Given the description of an element on the screen output the (x, y) to click on. 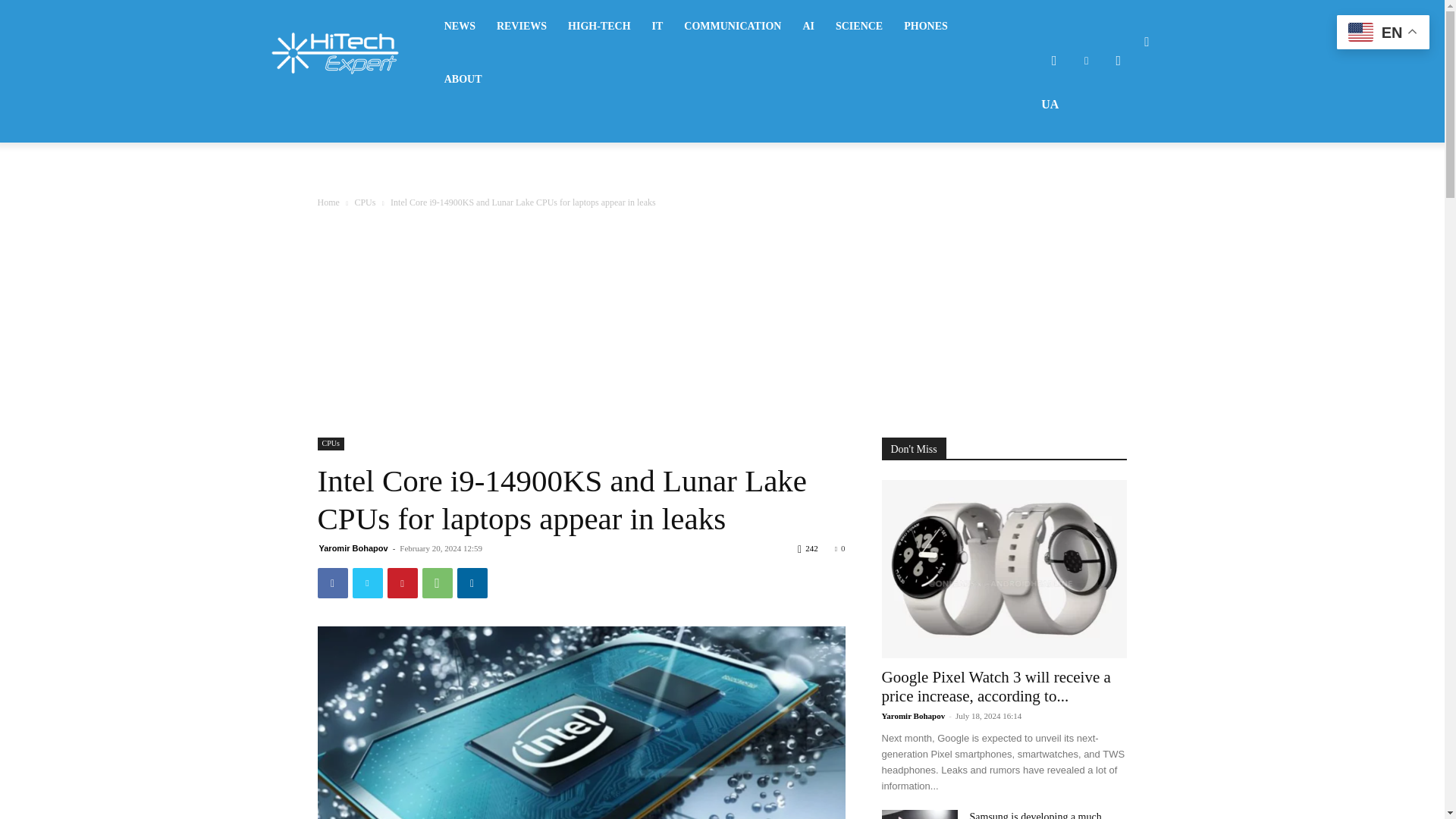
Twitter (1086, 60)
Twitter (366, 583)
View all posts in CPUs (364, 202)
Facebook (1054, 60)
Youtube (1118, 60)
Facebook (332, 583)
Pinterest (401, 583)
